Given the description of an element on the screen output the (x, y) to click on. 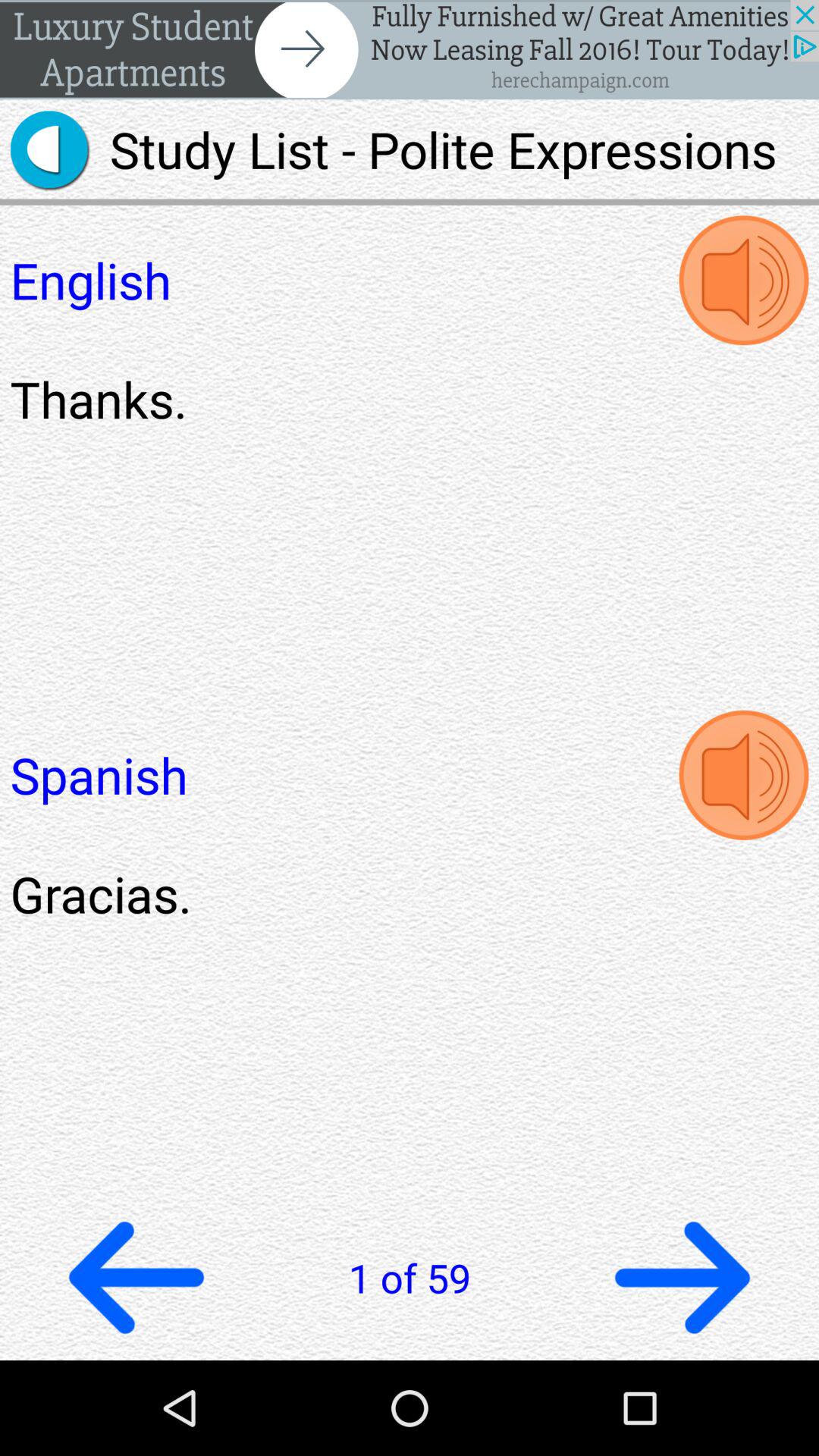
goback (136, 1277)
